Given the description of an element on the screen output the (x, y) to click on. 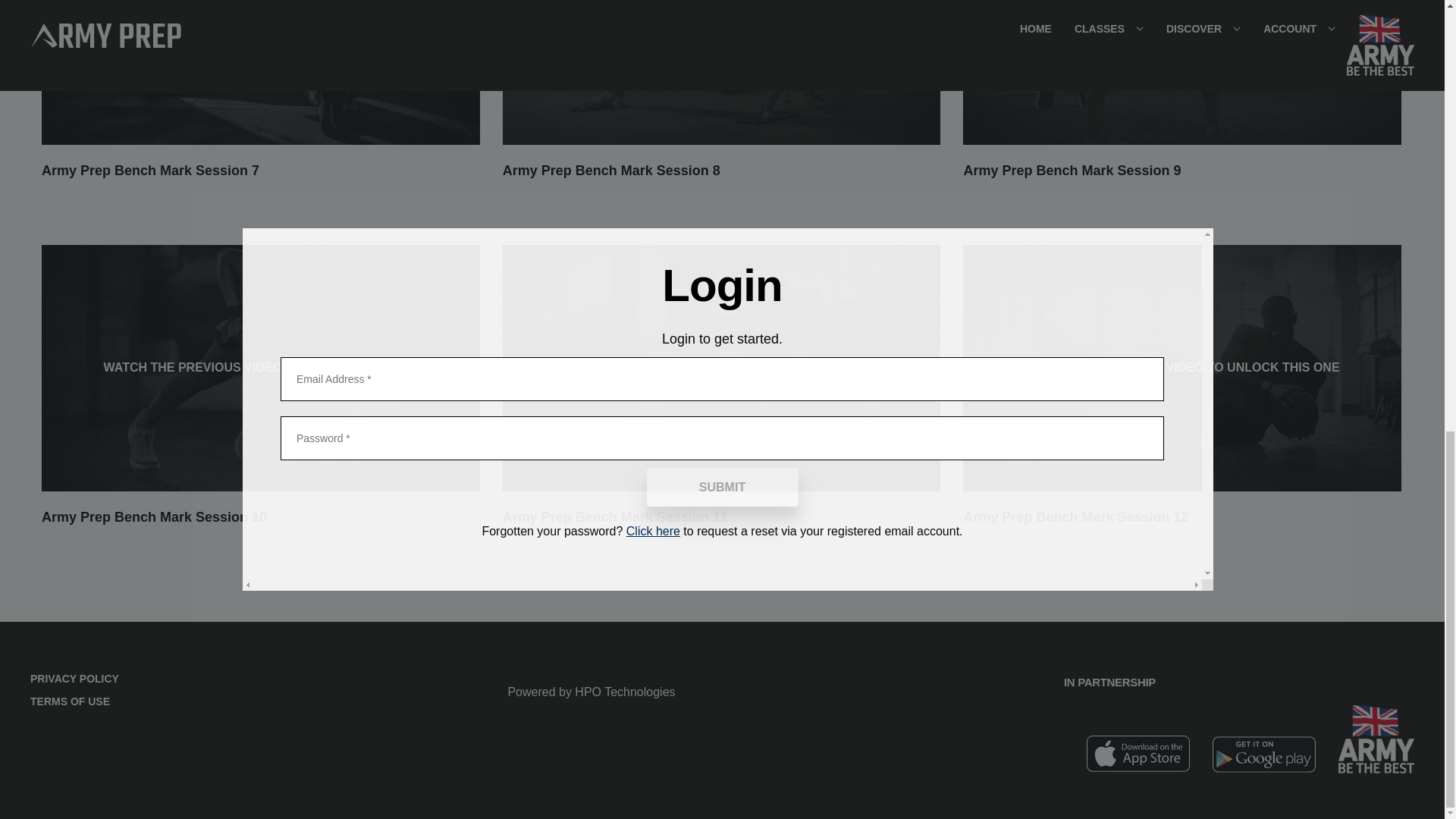
PRIVACY POLICY (74, 678)
TERMS OF USE (74, 701)
